Given the description of an element on the screen output the (x, y) to click on. 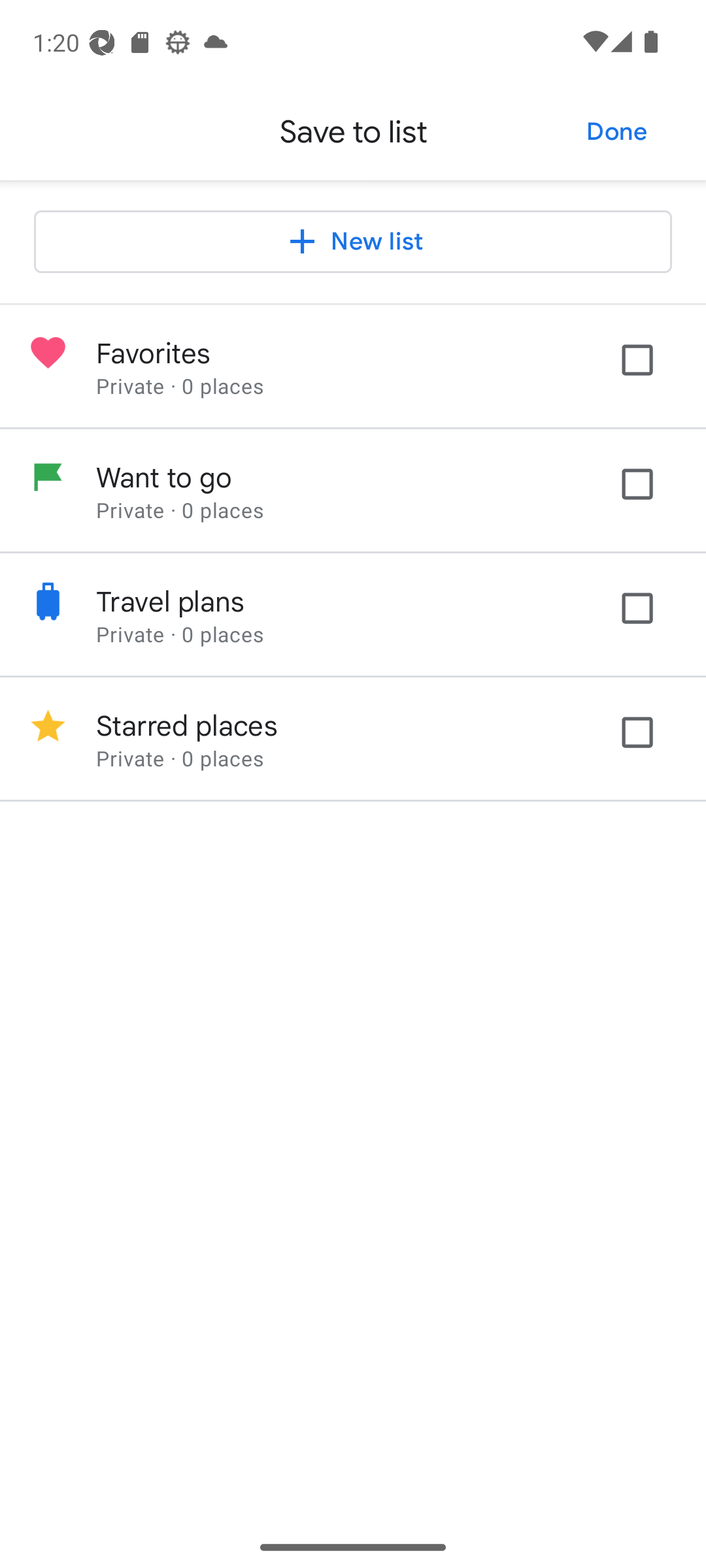
Done (616, 131)
New list (352, 241)
